Given the description of an element on the screen output the (x, y) to click on. 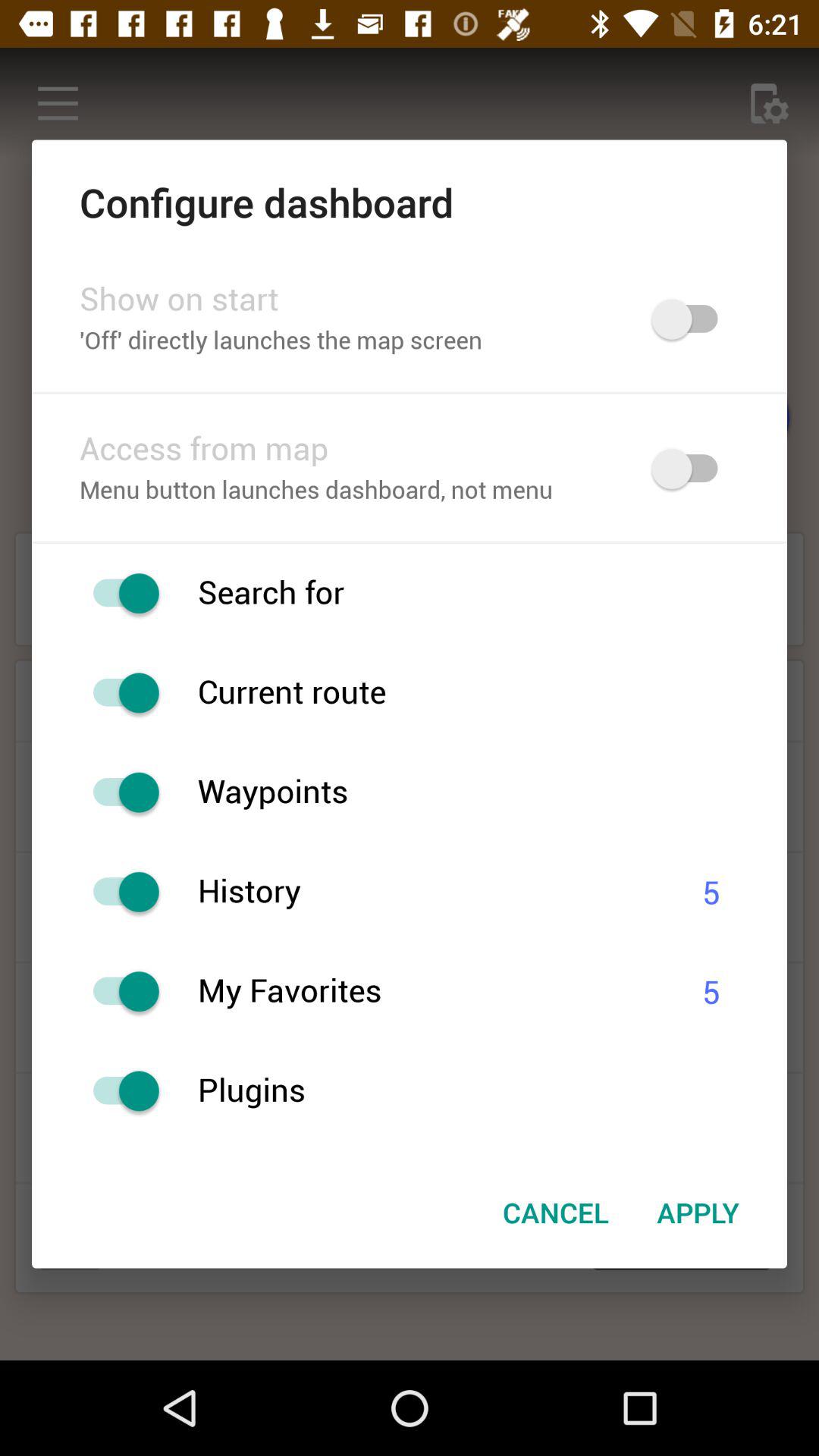
press item next to the cancel icon (698, 1212)
